Given the description of an element on the screen output the (x, y) to click on. 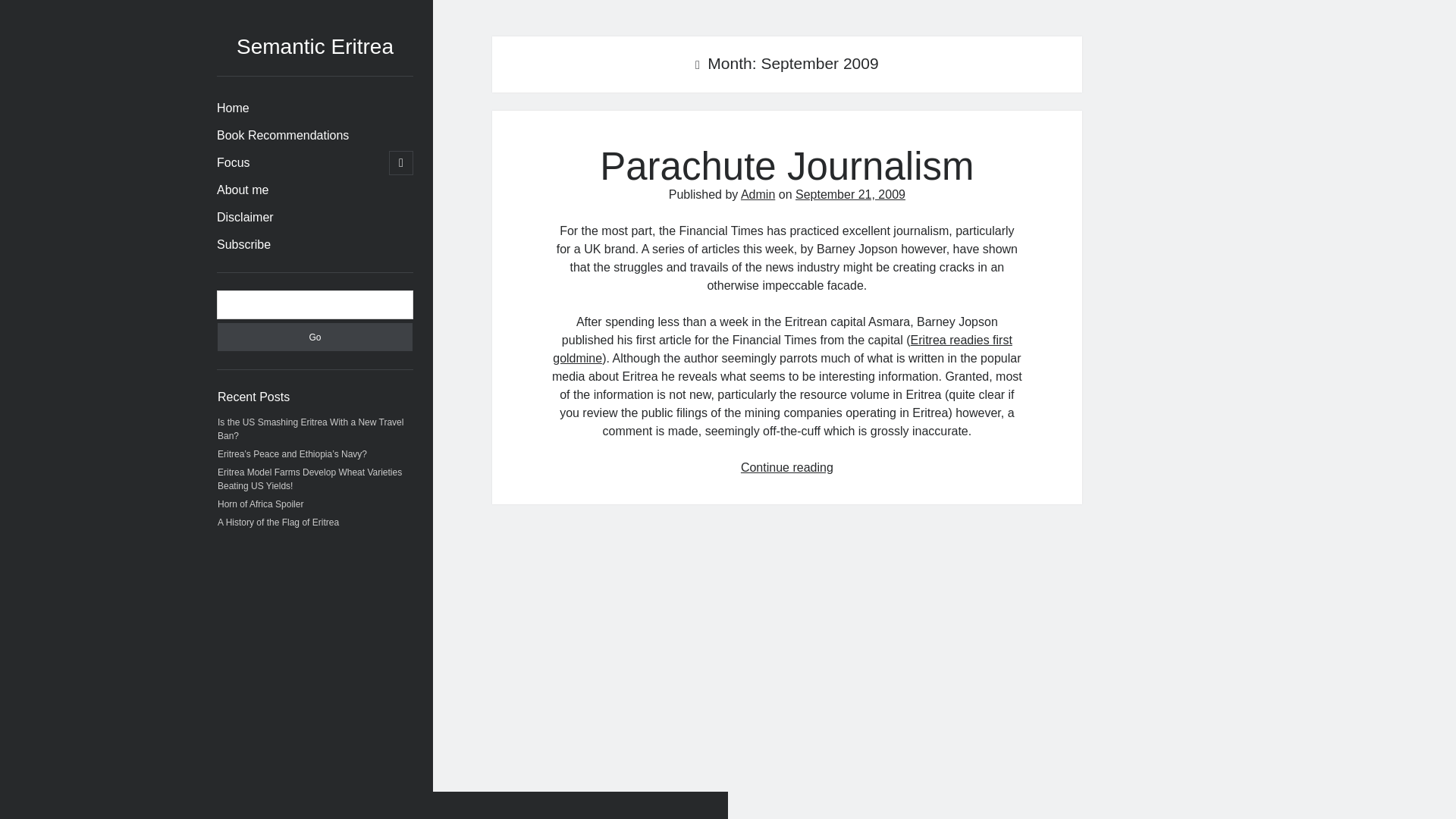
Semantic Eritrea (314, 46)
September 21, 2009 (849, 194)
Disclaimer (244, 217)
About me (241, 189)
Parachute Journalism (786, 166)
Book Recommendations (282, 135)
Subscribe (243, 244)
Go (314, 336)
Eritrea readies first goldmine (782, 348)
Admin (757, 194)
Go (314, 336)
Horn of Africa Spoiler (259, 503)
A History of the Flag of Eritrea (277, 521)
Home (232, 108)
Focus (233, 162)
